Given the description of an element on the screen output the (x, y) to click on. 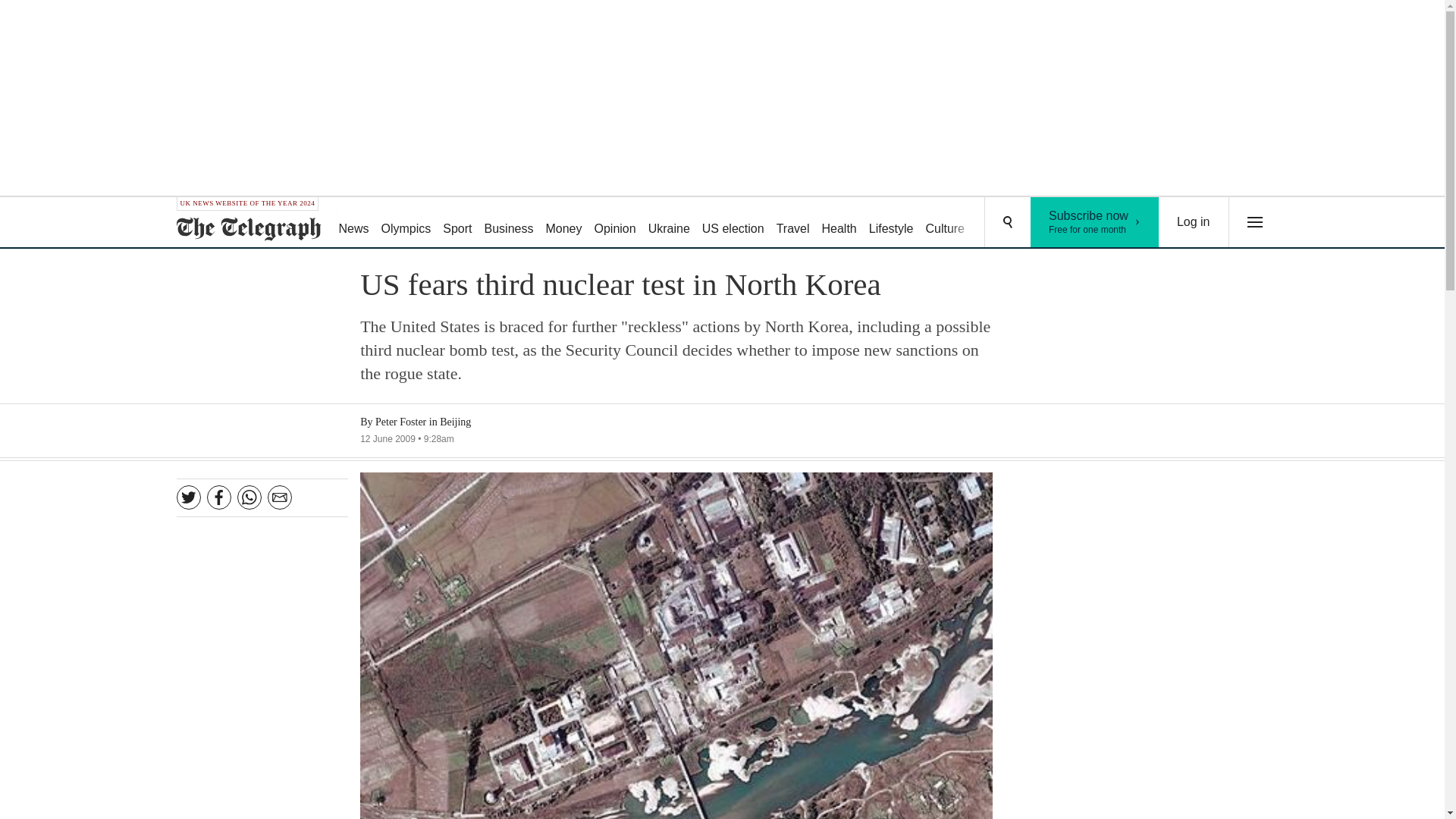
Travel (792, 223)
Podcasts (1056, 223)
Culture (944, 223)
Money (563, 223)
Puzzles (998, 223)
Lifestyle (891, 223)
Health (838, 223)
Olympics (406, 223)
Ukraine (668, 223)
Log in (1193, 222)
Opinion (615, 223)
US election (732, 223)
Business (1094, 222)
